Given the description of an element on the screen output the (x, y) to click on. 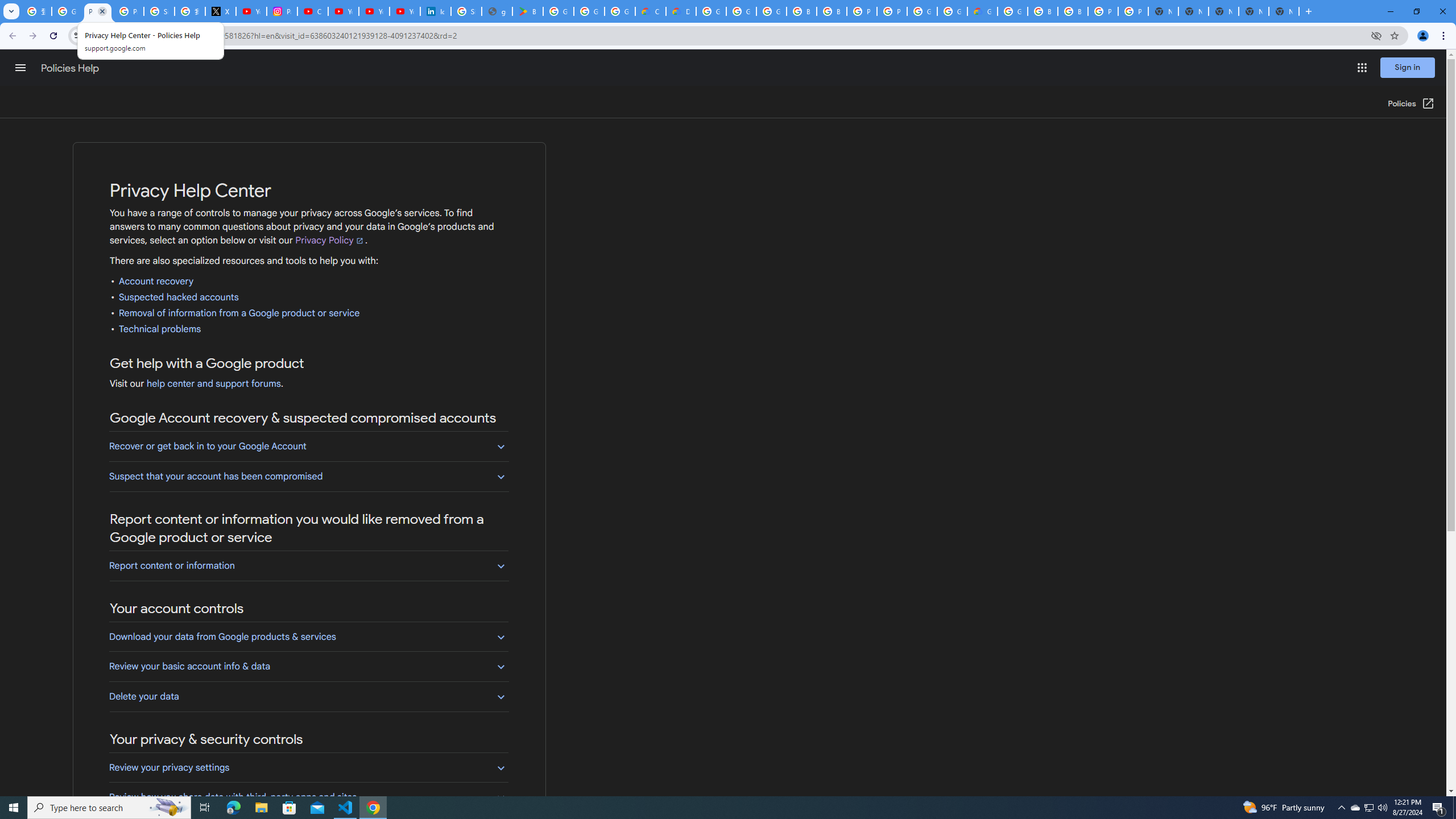
Google Cloud Platform (710, 11)
